Given the description of an element on the screen output the (x, y) to click on. 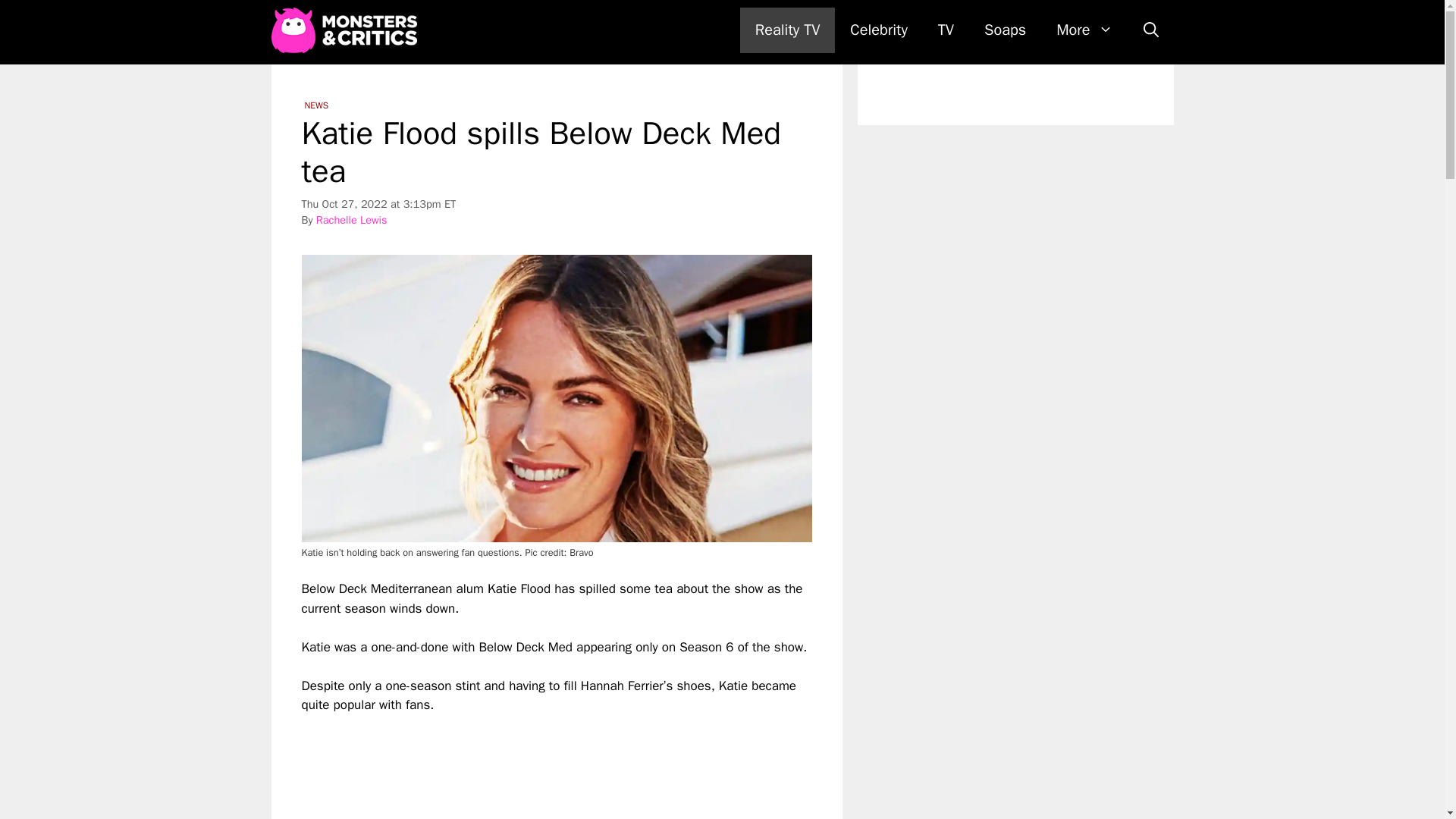
TV (946, 30)
Rachelle Lewis (351, 219)
Monsters and Critics (343, 30)
Reality TV (787, 30)
Celebrity (877, 30)
Soaps (1005, 30)
Monsters and Critics (347, 30)
YouTube video player (513, 766)
View all posts by Rachelle Lewis (351, 219)
More (1083, 30)
